Given the description of an element on the screen output the (x, y) to click on. 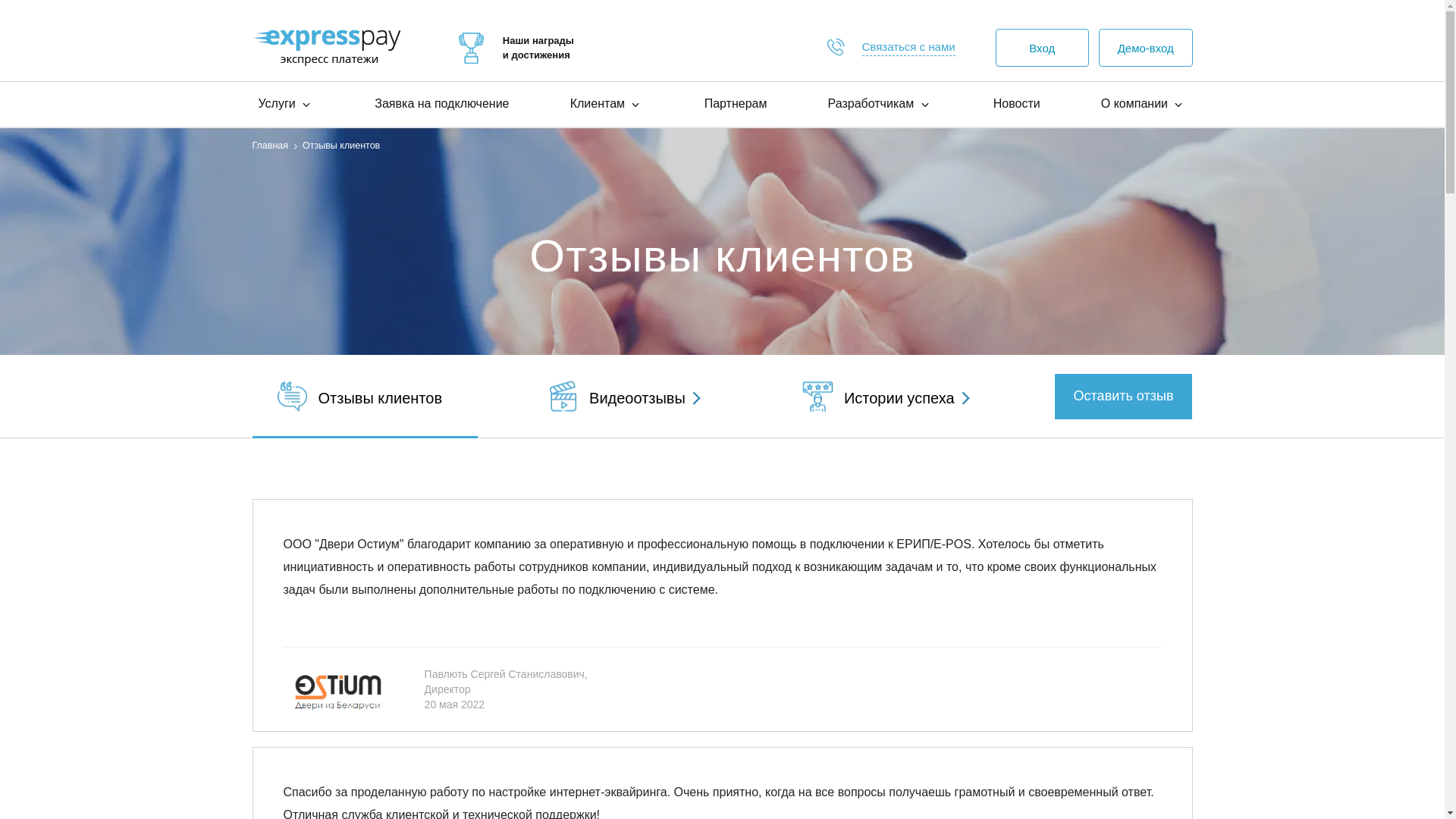
express-pay.by Element type: hover (470, 47)
express-pay.by Element type: hover (325, 47)
